Given the description of an element on the screen output the (x, y) to click on. 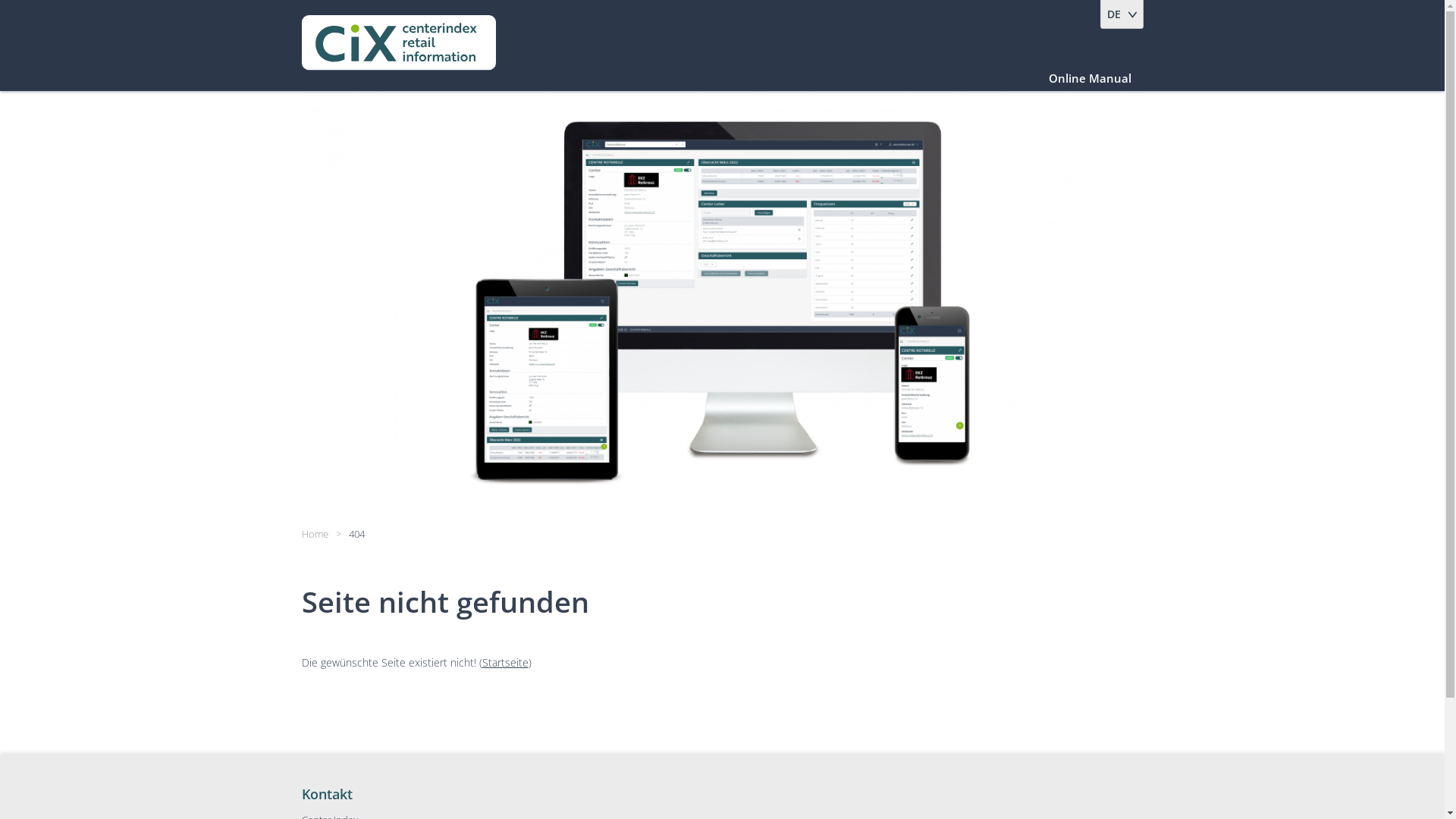
Online Manual Element type: text (1089, 77)
Home Element type: text (314, 533)
Zur Startseite Center Index Element type: hover (398, 47)
Startseite Element type: text (505, 662)
